Given the description of an element on the screen output the (x, y) to click on. 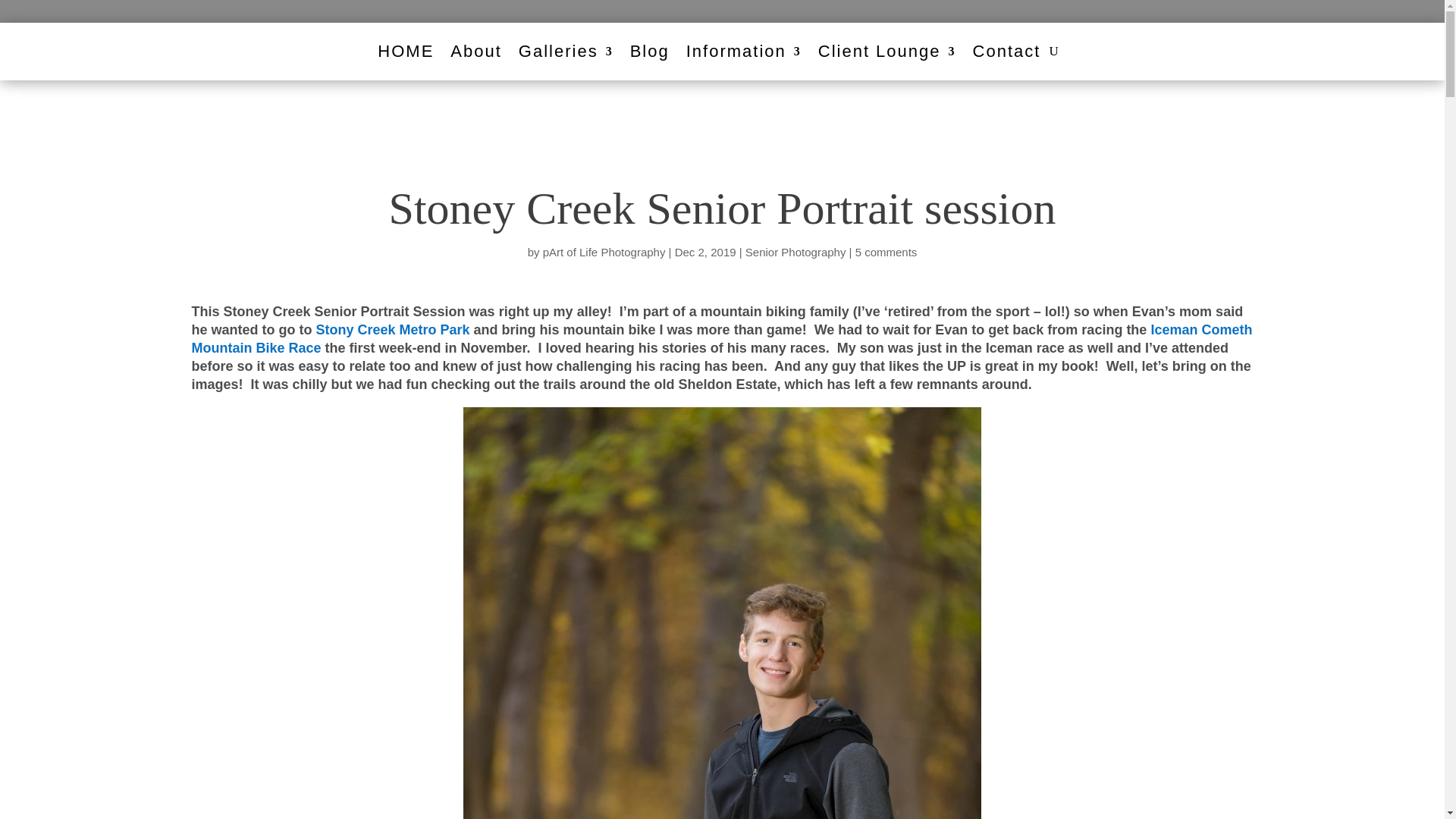
About (475, 51)
Contact (1006, 51)
Client Lounge (887, 51)
Galleries (565, 51)
Posts by pArt of Life Photography (604, 251)
Iceman Cometh Mountain Bike Race (721, 338)
Information (743, 51)
Stony Creek Metro Park (391, 329)
HOME (405, 51)
5 comments (886, 251)
Senior Photography (795, 251)
pArt of Life Photography (604, 251)
